Given the description of an element on the screen output the (x, y) to click on. 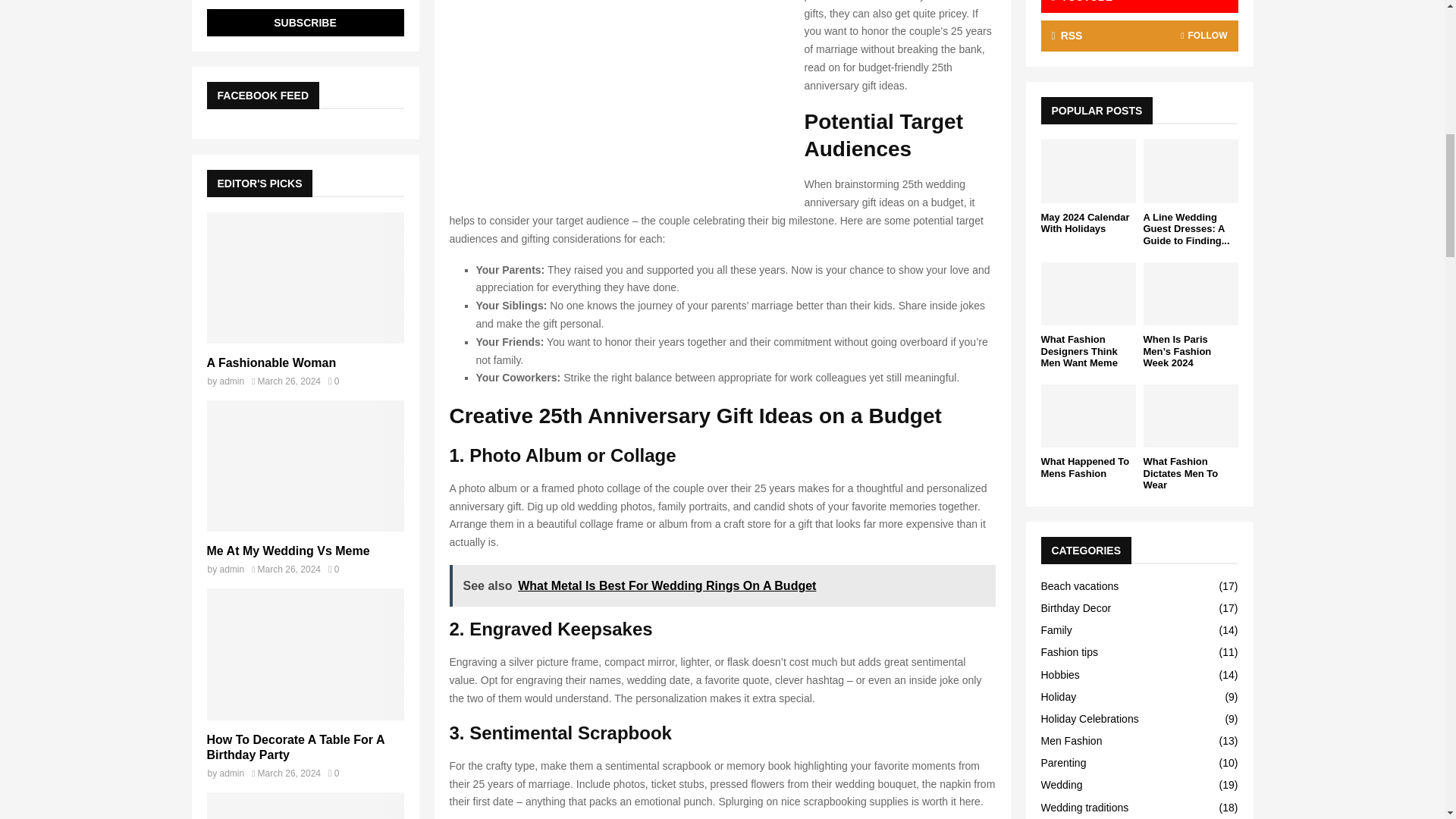
 Me At My Wedding Vs Meme  (287, 550)
Subscribe (304, 22)
A Fashionable Woman (304, 277)
How To Decorate A Table For A Birthday Party (304, 653)
See also  What Metal Is Best For Wedding Rings On A Budget (721, 585)
 A Fashionable Woman  (271, 362)
Me At My Wedding Vs Meme (304, 465)
